Given the description of an element on the screen output the (x, y) to click on. 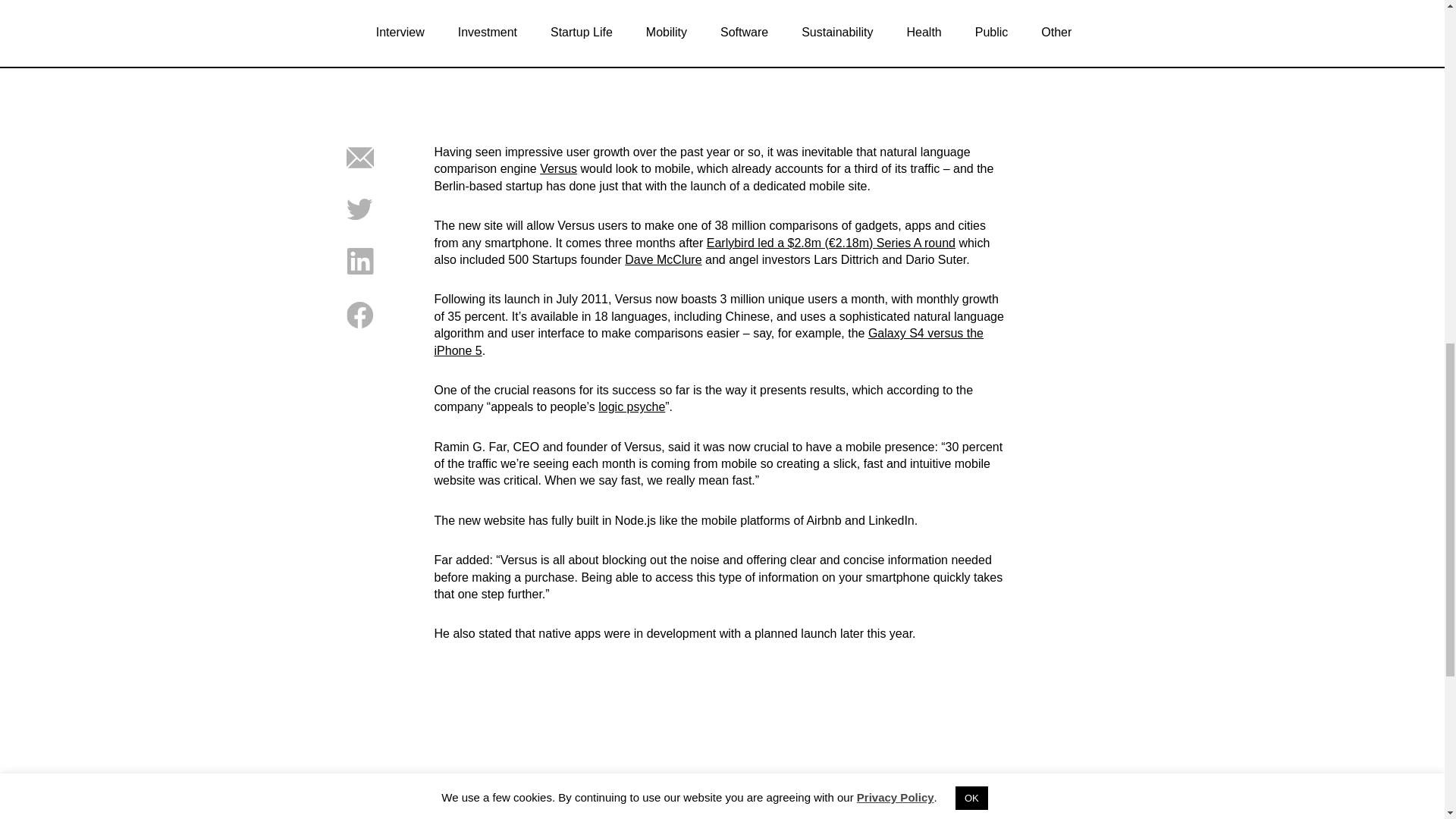
Share by Email (359, 166)
logic psyche (631, 406)
Galaxy S4 versus the iPhone 5 (708, 341)
Versus (558, 168)
Dave McClure (662, 259)
